Given the description of an element on the screen output the (x, y) to click on. 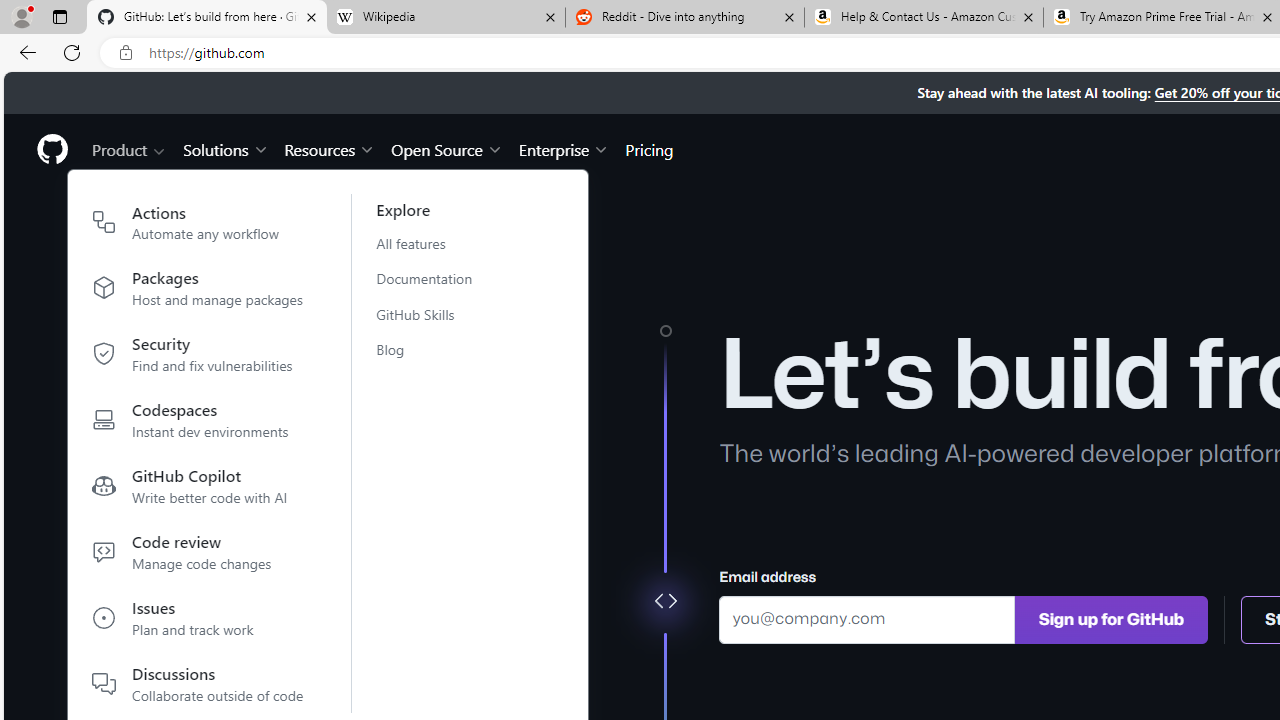
Issues Plan and track work (198, 621)
Discussions Collaborate outside of code (198, 684)
GitHub Copilot Write better code with AI (198, 490)
Product (130, 148)
Sign up for GitHub (1111, 618)
SecurityFind and fix vulnerabilities (198, 357)
Codespaces Instant dev environments (198, 423)
Enterprise (563, 148)
CodespacesInstant dev environments (198, 423)
Open Source (446, 148)
Resources (330, 148)
Documentation (436, 278)
